Given the description of an element on the screen output the (x, y) to click on. 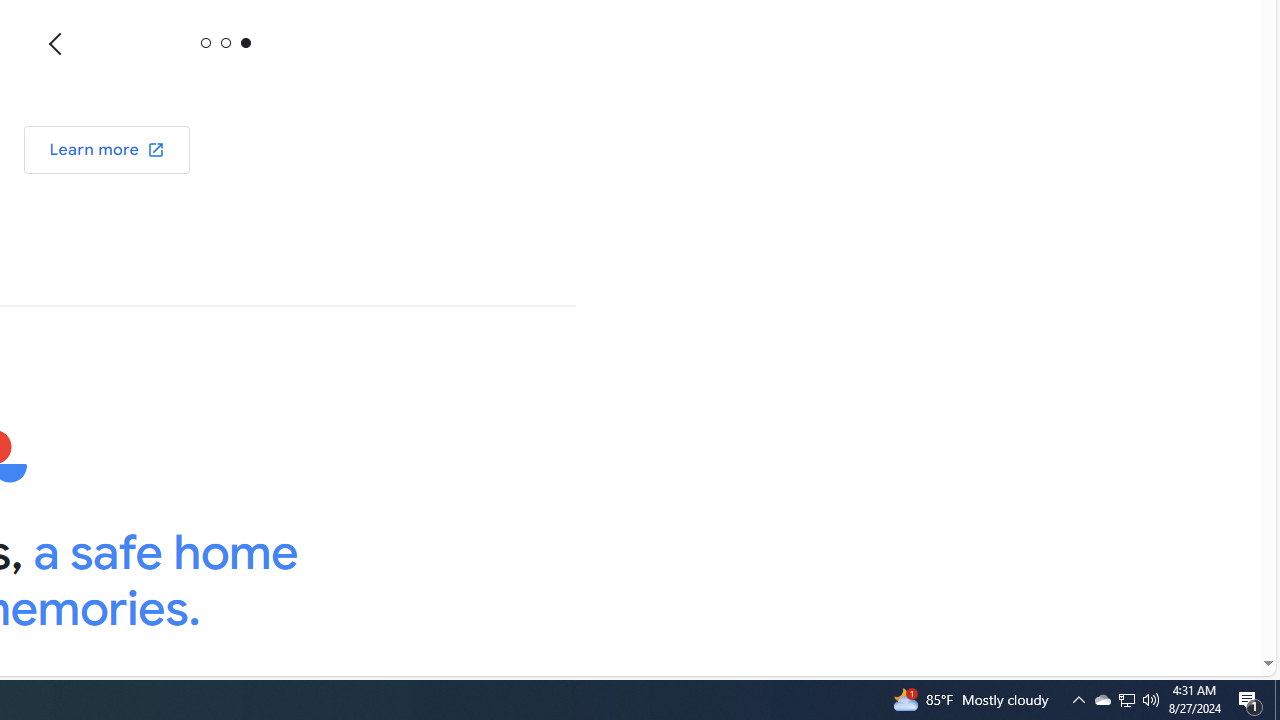
Previous (56, 43)
1 (225, 42)
2 (244, 42)
0 (205, 42)
Learn more about YouTube (107, 149)
